Given the description of an element on the screen output the (x, y) to click on. 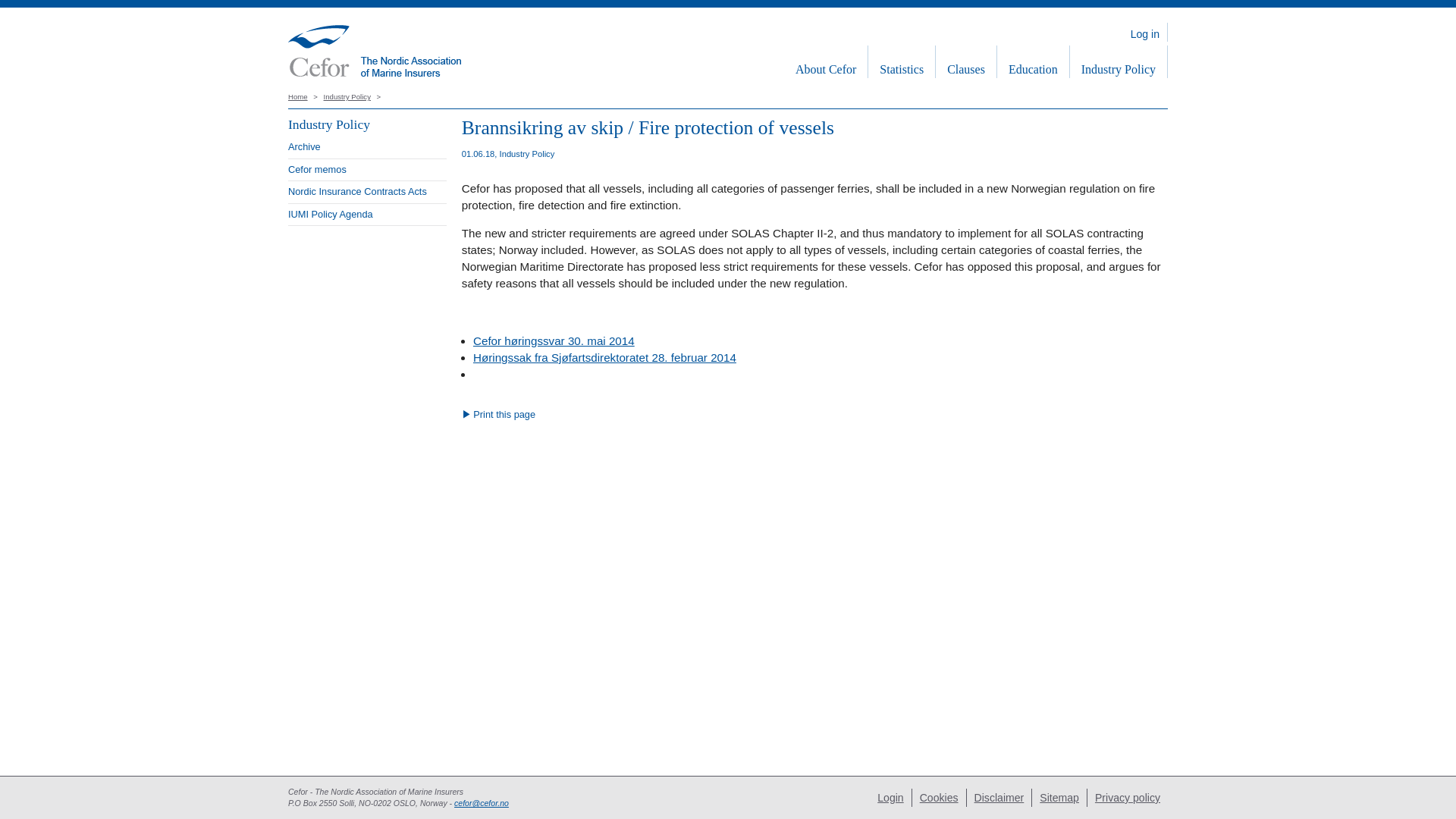
Log in (1144, 31)
Print this page (498, 414)
Statistics (900, 61)
Log in (1144, 31)
Send e-mail (481, 802)
About Cefor (825, 61)
Education (1032, 61)
Clauses (965, 61)
